Given the description of an element on the screen output the (x, y) to click on. 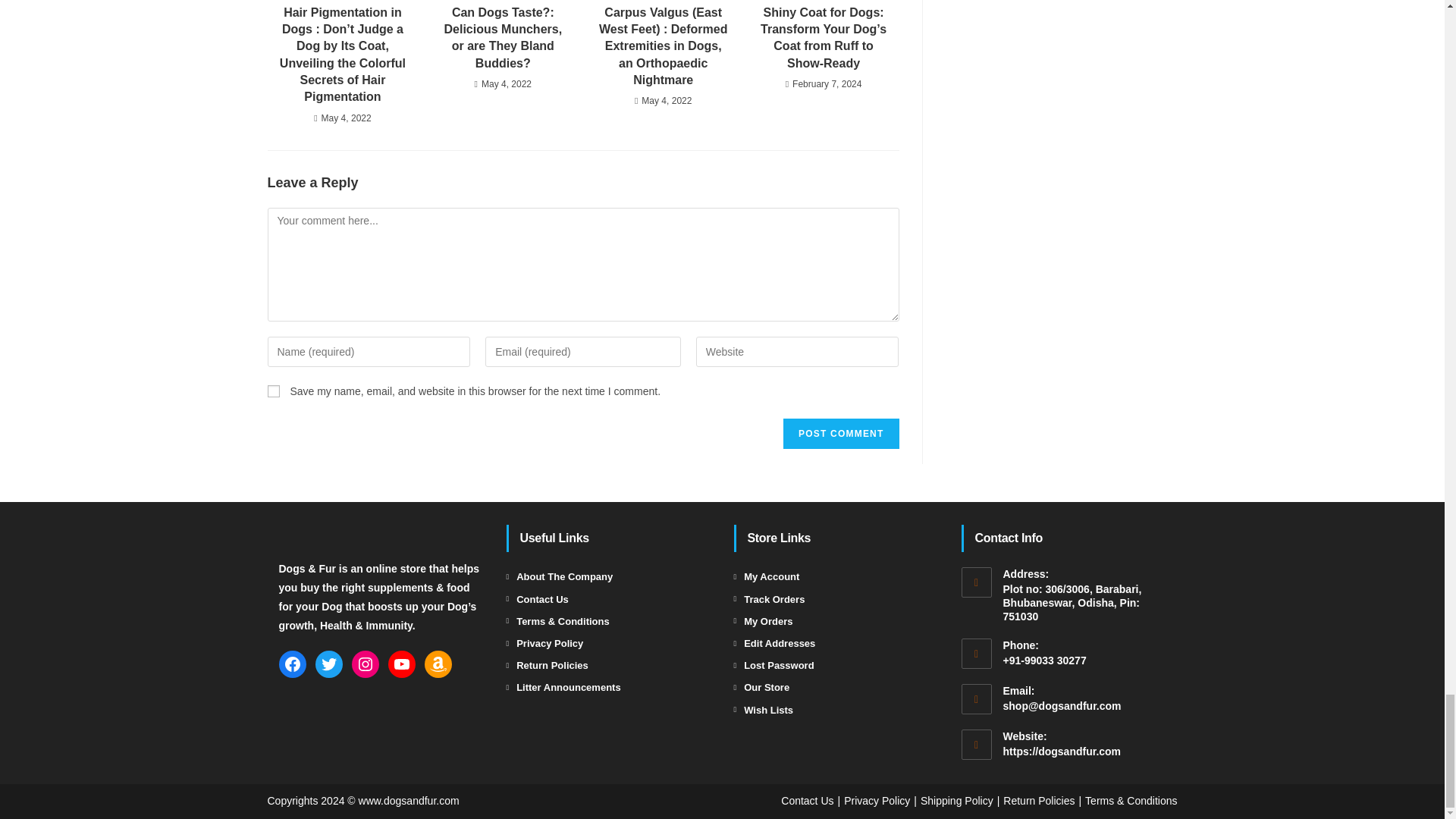
Post Comment (840, 433)
yes (272, 390)
